Given the description of an element on the screen output the (x, y) to click on. 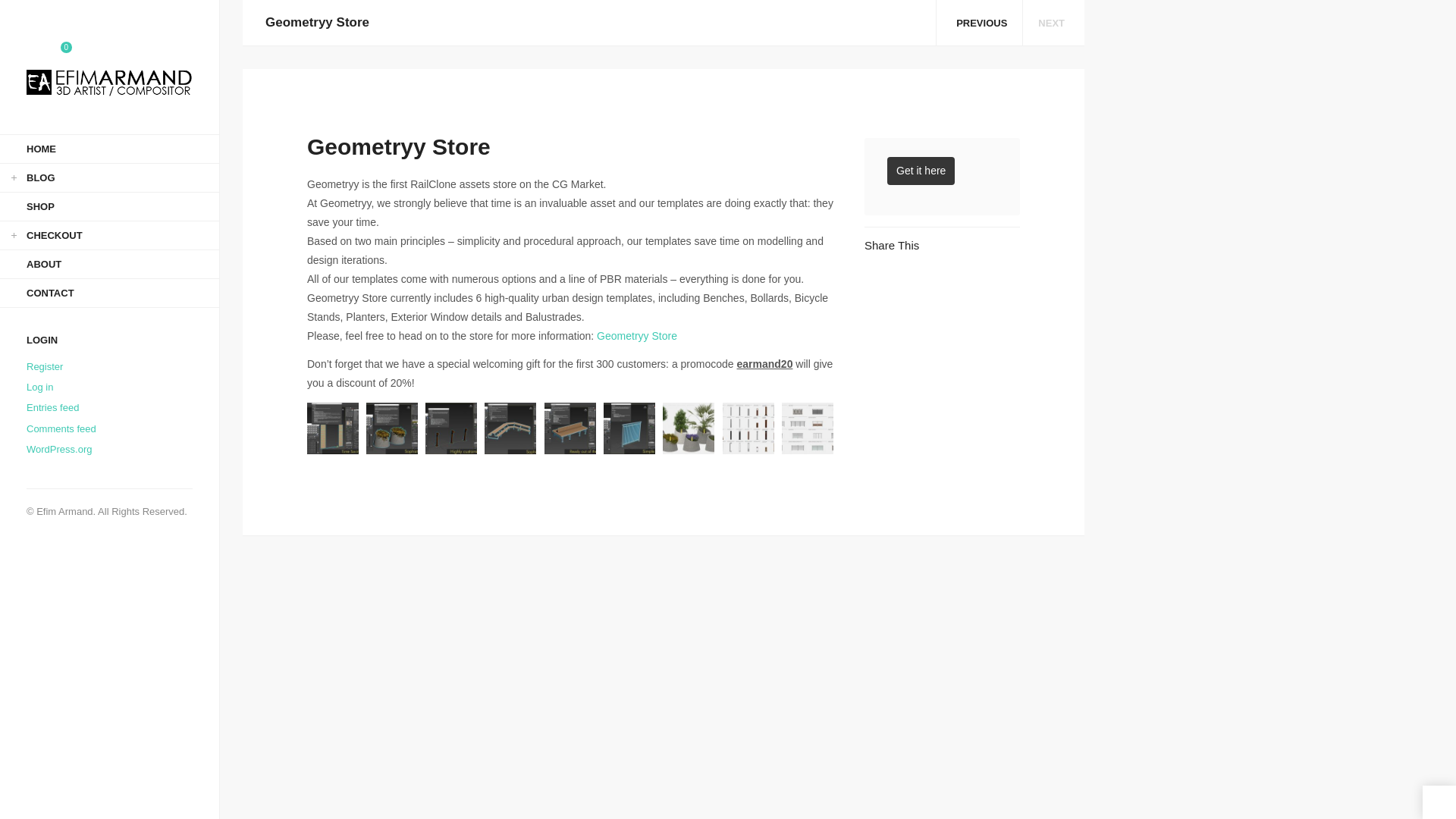
WordPress.org (58, 449)
CONTACT (109, 293)
BLOG (109, 177)
Geometryy Store (636, 336)
ABOUT (109, 264)
Get it here (920, 171)
PREVIOUS (979, 22)
SHOP (109, 206)
CHECKOUT (109, 235)
HOME (109, 148)
Register (44, 366)
Entries feed (52, 407)
Comments feed (61, 428)
Log in (39, 387)
